Given the description of an element on the screen output the (x, y) to click on. 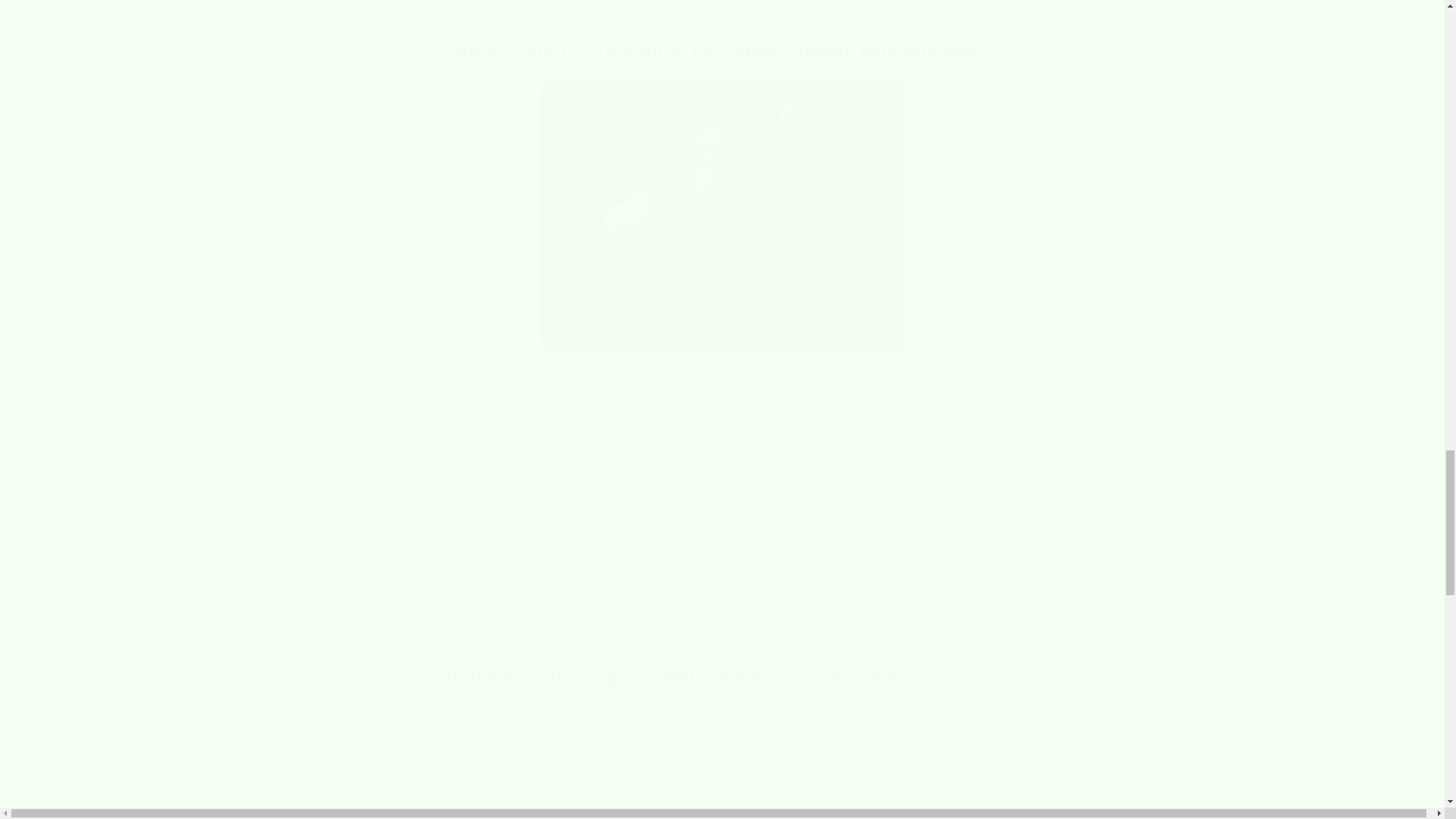
organic multivitamin- gruns (759, 383)
organic multivitamin- gruns (929, 791)
organic multivitamin- gruns (464, 440)
usual health boosters (929, 791)
vegan gummy multivitamins- Gruns (722, 215)
